Given the description of an element on the screen output the (x, y) to click on. 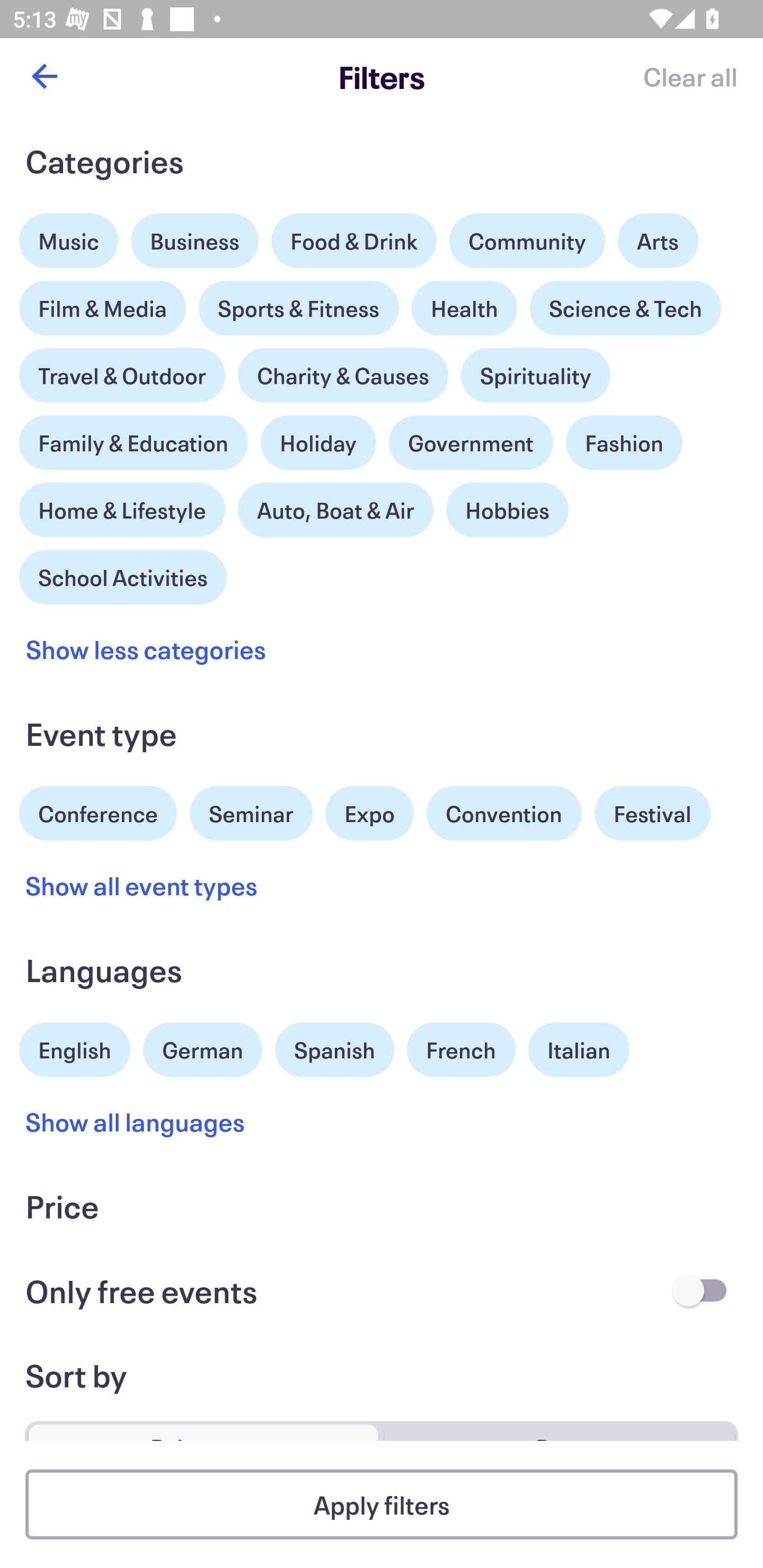
Back button (44, 75)
Clear all (690, 75)
Music (68, 235)
Business (194, 240)
Food & Drink (353, 240)
Community (527, 240)
Arts (658, 235)
Film & Media (102, 303)
Sports & Fitness (298, 307)
Health (464, 307)
Science & Tech (625, 307)
Travel & Outdoor (122, 370)
Charity & Causes (343, 375)
Spirituality (535, 375)
Family & Education (133, 442)
Holiday (318, 437)
Government (471, 442)
Fashion (624, 442)
Home & Lifestyle (122, 505)
Auto, Boat & Air (335, 509)
Hobbies (507, 509)
School Activities (122, 575)
Show less categories (145, 648)
Conference (98, 811)
Seminar (250, 813)
Expo (369, 813)
Convention (503, 813)
Festival (652, 813)
Show all event types (141, 884)
English (74, 1047)
German (202, 1047)
Spanish (334, 1049)
French (460, 1049)
Italian (578, 1049)
Show all languages (135, 1121)
Apply filters (381, 1504)
